Given the description of an element on the screen output the (x, y) to click on. 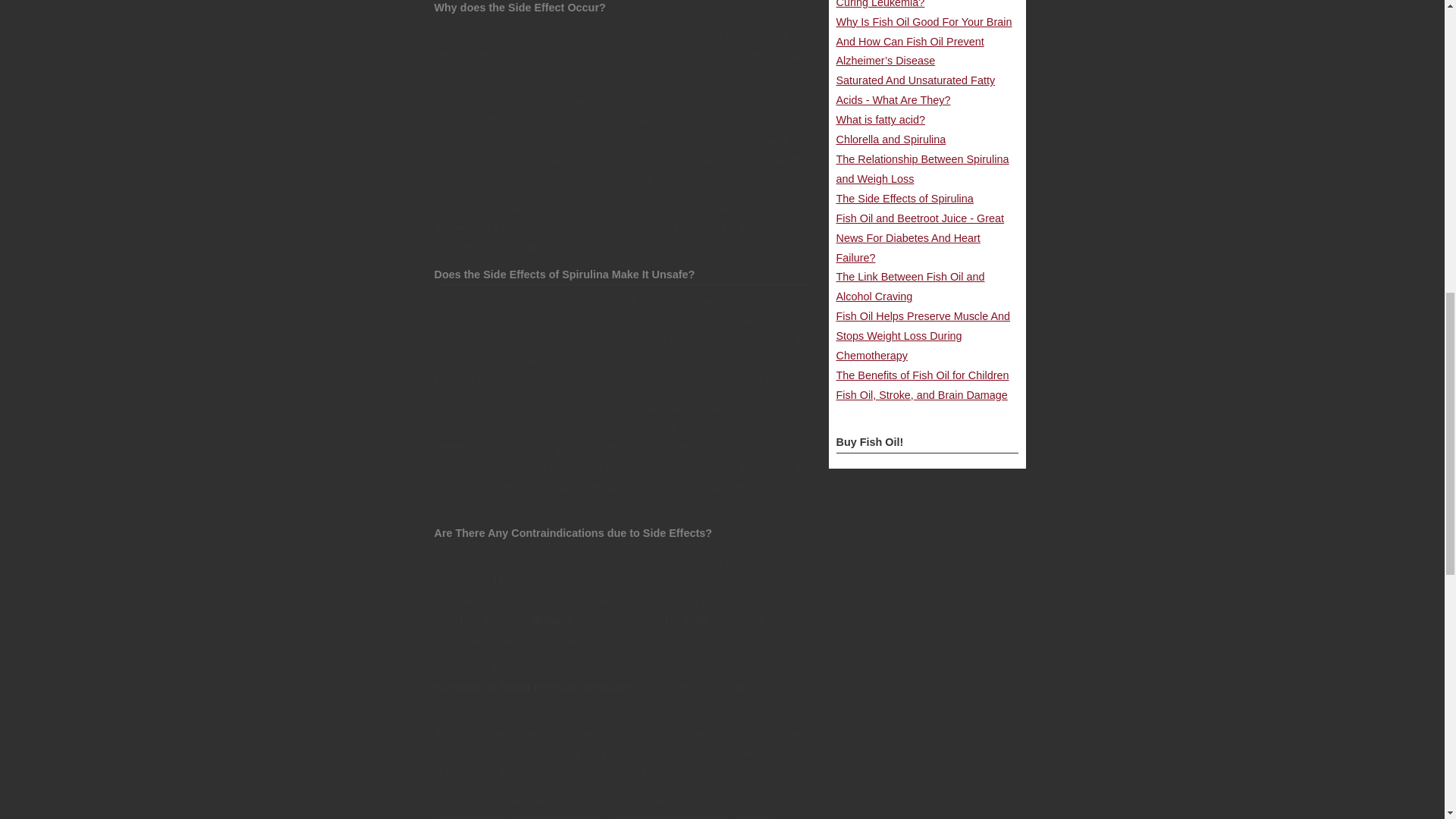
Saturated And Unsaturated Fatty Acids - What Are They? (914, 90)
The Relationship Between Spirulina and Weigh Loss (922, 169)
The Side Effects of Spirulina (903, 198)
Could Fish Oil Hold The Key To Curing Leukemia? (911, 4)
What is fatty acid? (879, 119)
Chlorella and Spirulina (889, 139)
The Link Between Fish Oil and Alcohol Craving (909, 286)
